Given the description of an element on the screen output the (x, y) to click on. 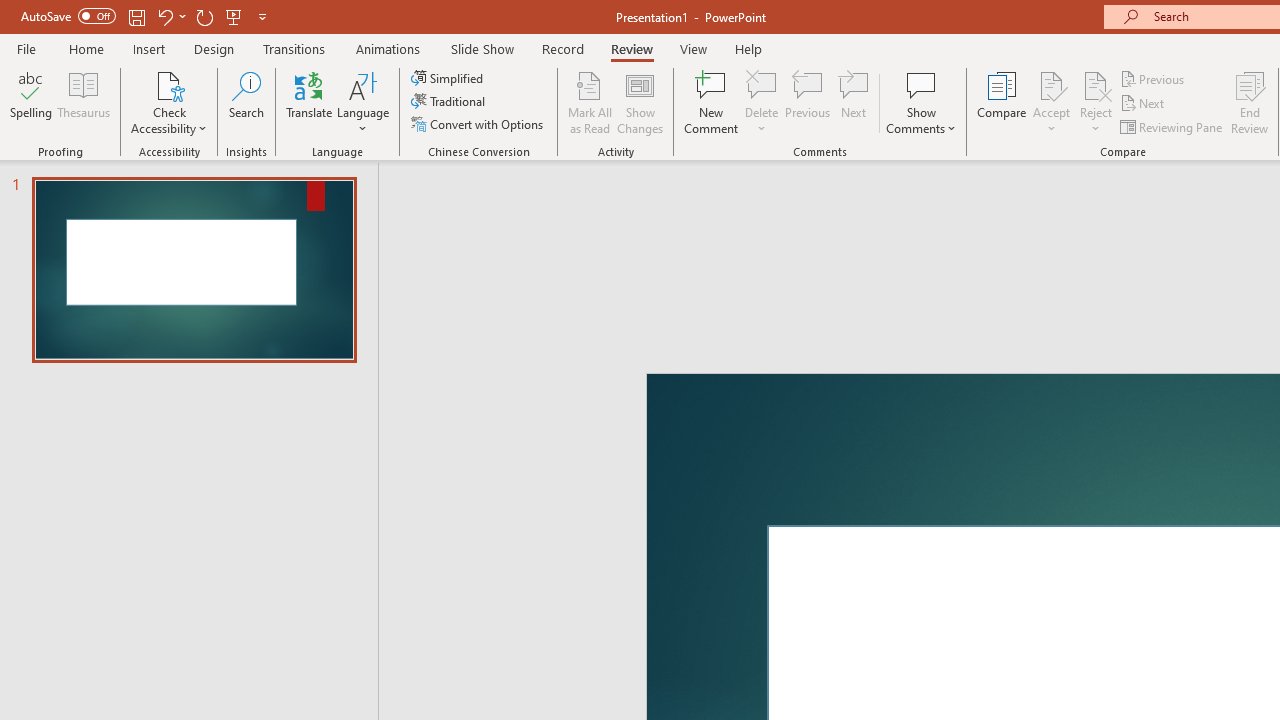
Convert with Options... (479, 124)
Accept Change (1051, 84)
Transitions (294, 48)
Reviewing Pane (1172, 126)
Accept (1051, 102)
